Given the description of an element on the screen output the (x, y) to click on. 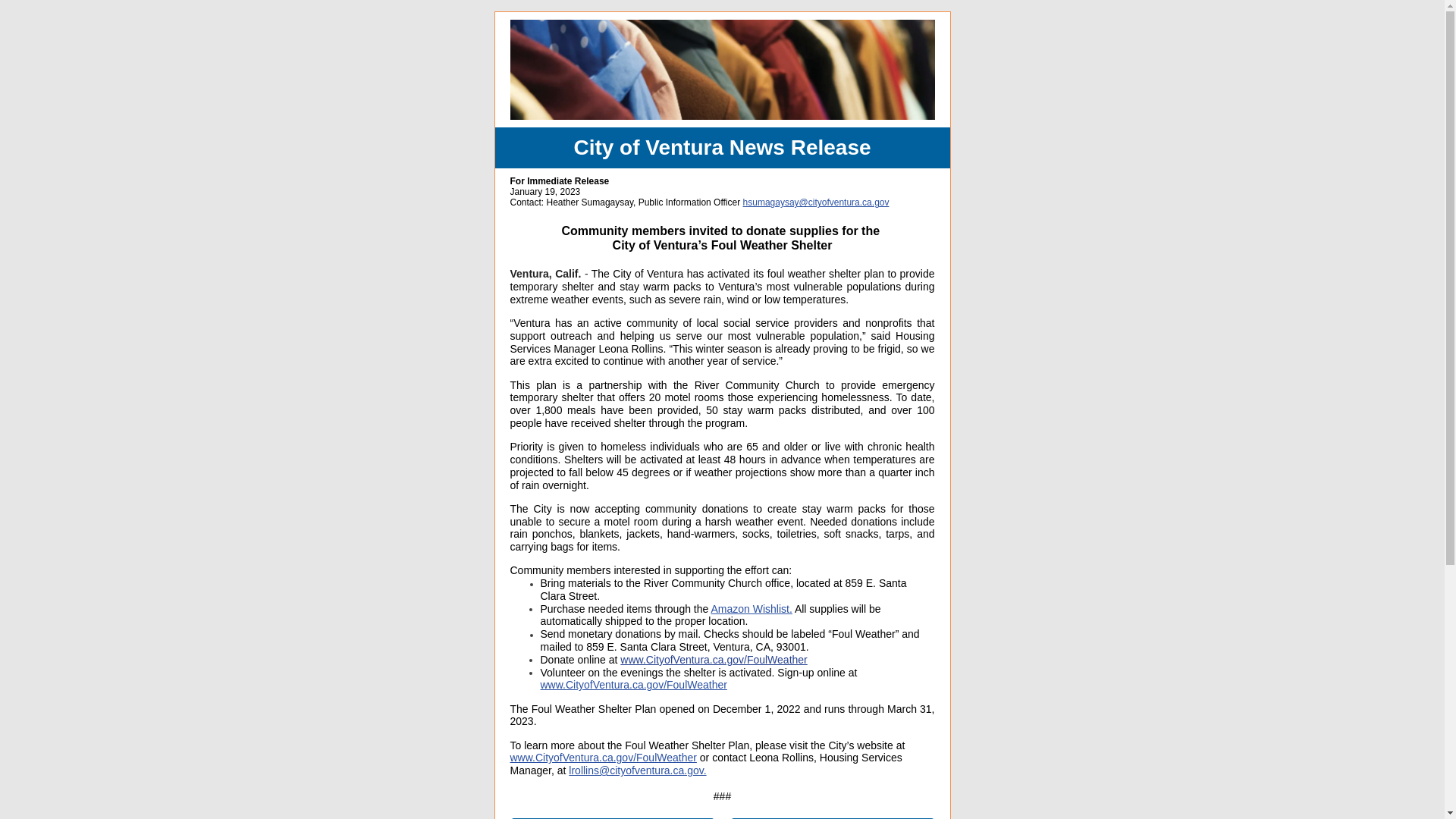
Amazon Wishlist. (751, 608)
